Given the description of an element on the screen output the (x, y) to click on. 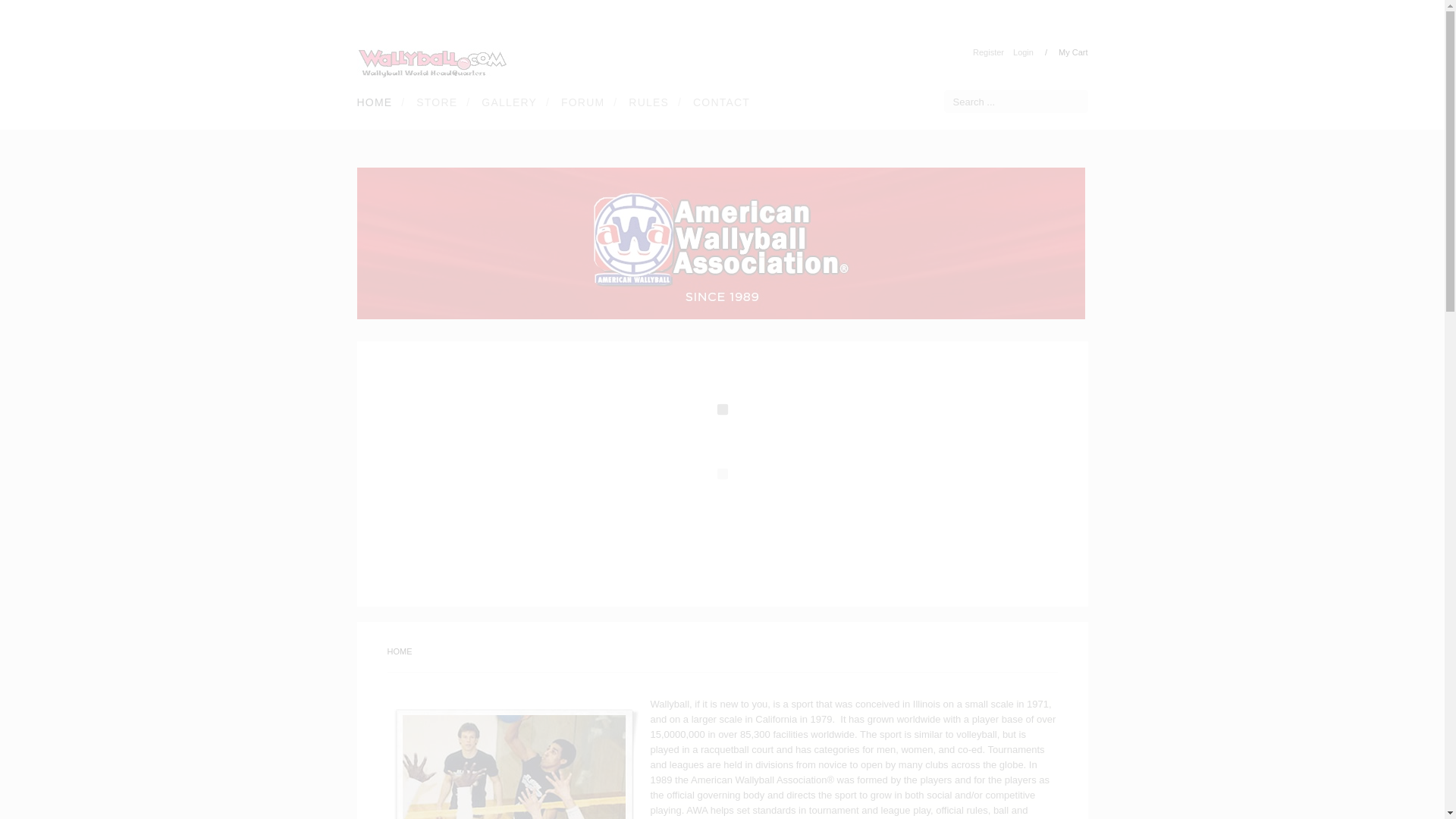
Search ... (1015, 101)
CONTACT (718, 102)
RULES (645, 102)
STORE (433, 102)
GALLERY (505, 102)
FORUM (579, 102)
login (1023, 51)
Register (988, 51)
WALLYBALL FORUM (579, 102)
Login (1023, 51)
